Given the description of an element on the screen output the (x, y) to click on. 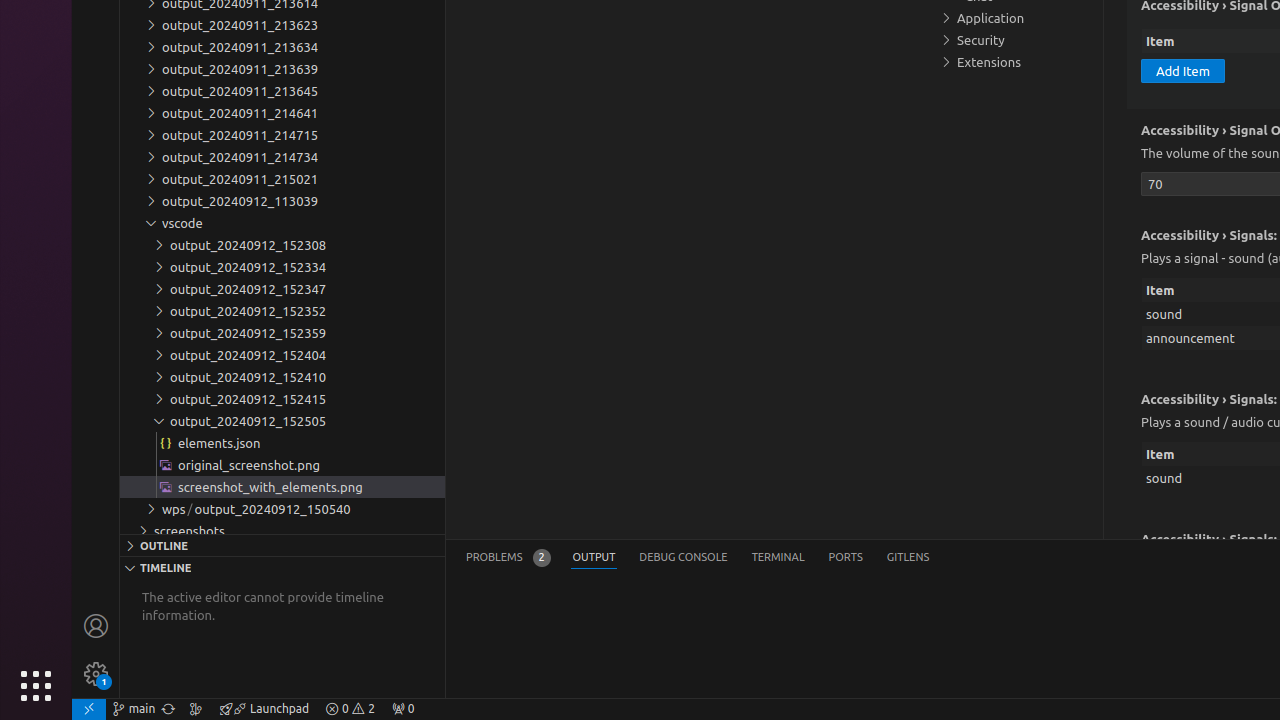
Extensions, group Element type: tree-item (1015, 62)
Active View Switcher Element type: page-tab-list (698, 557)
output_20240911_214734 Element type: tree-item (282, 157)
Warnings: 2 Element type: push-button (350, 709)
output_20240911_213634 Element type: tree-item (282, 47)
